Given the description of an element on the screen output the (x, y) to click on. 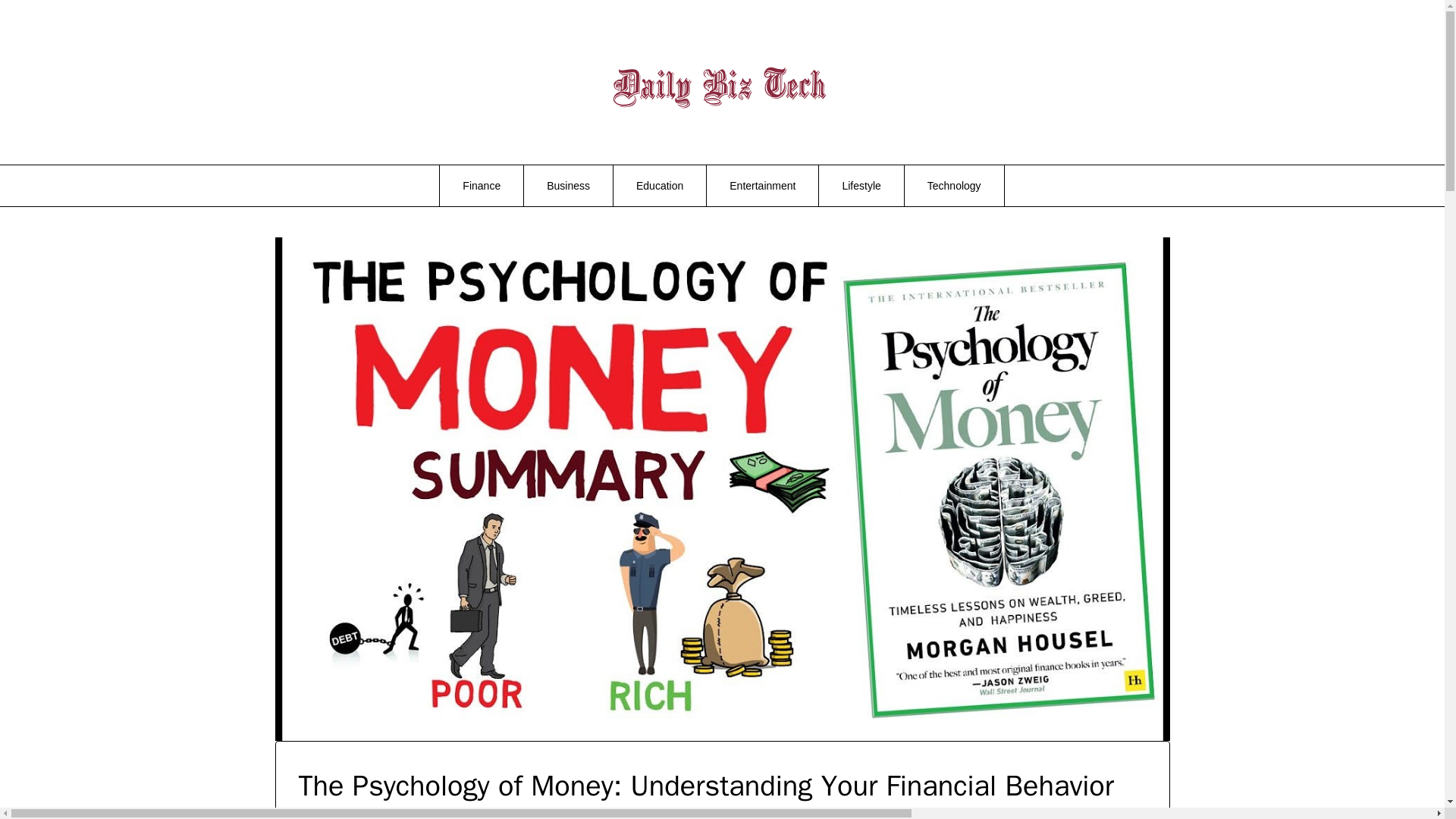
Daily Biz Tech (1145, 67)
8 November 2023 (381, 817)
Finance (480, 185)
Lifestyle (860, 185)
Business (568, 185)
Technology (954, 185)
Education (659, 185)
Entertainment (762, 185)
